Given the description of an element on the screen output the (x, y) to click on. 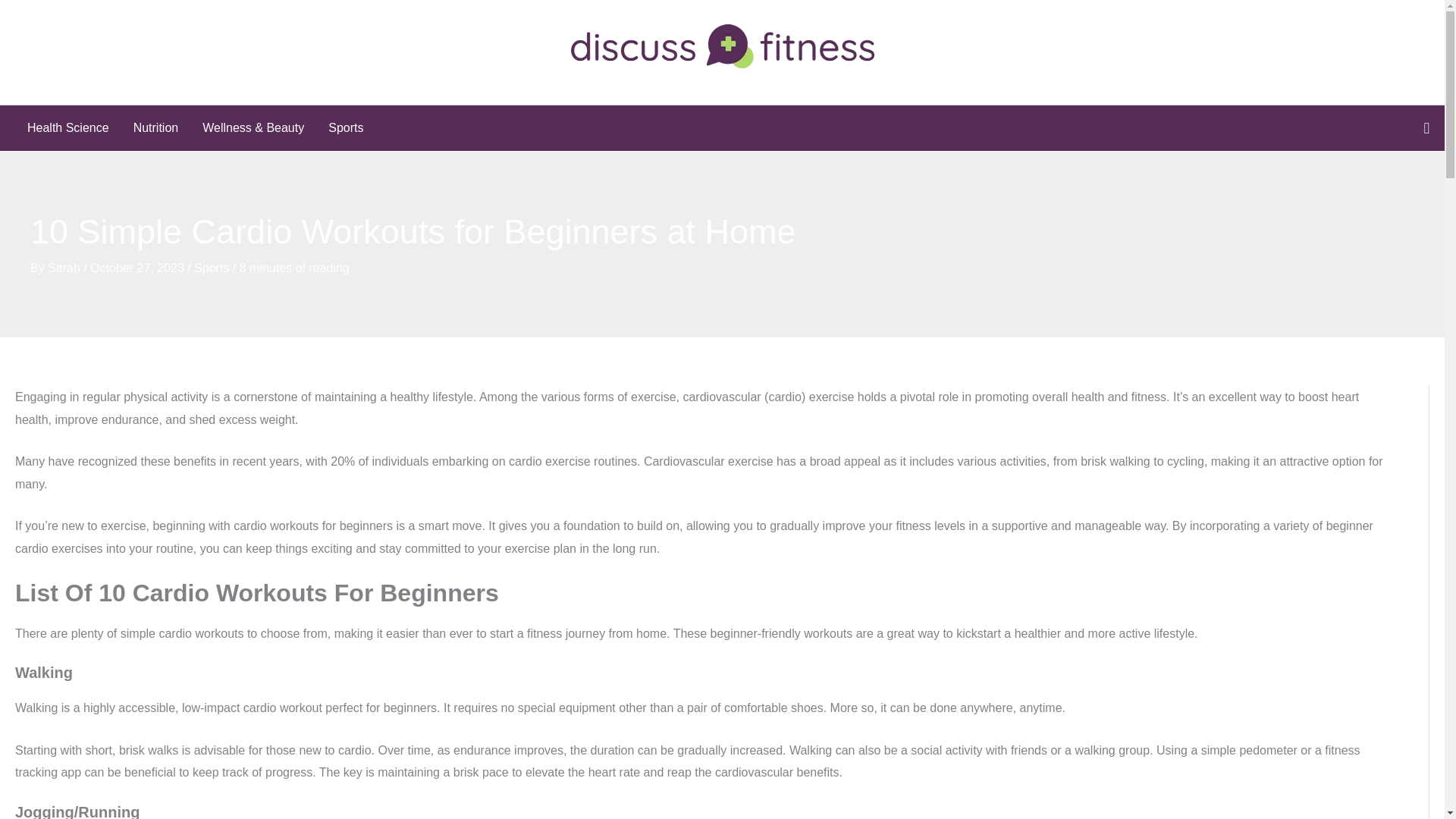
Sarah (65, 267)
Sports (210, 267)
Nutrition (155, 127)
View all posts by Sarah (65, 267)
Health Science (67, 127)
Sports (345, 127)
